Given the description of an element on the screen output the (x, y) to click on. 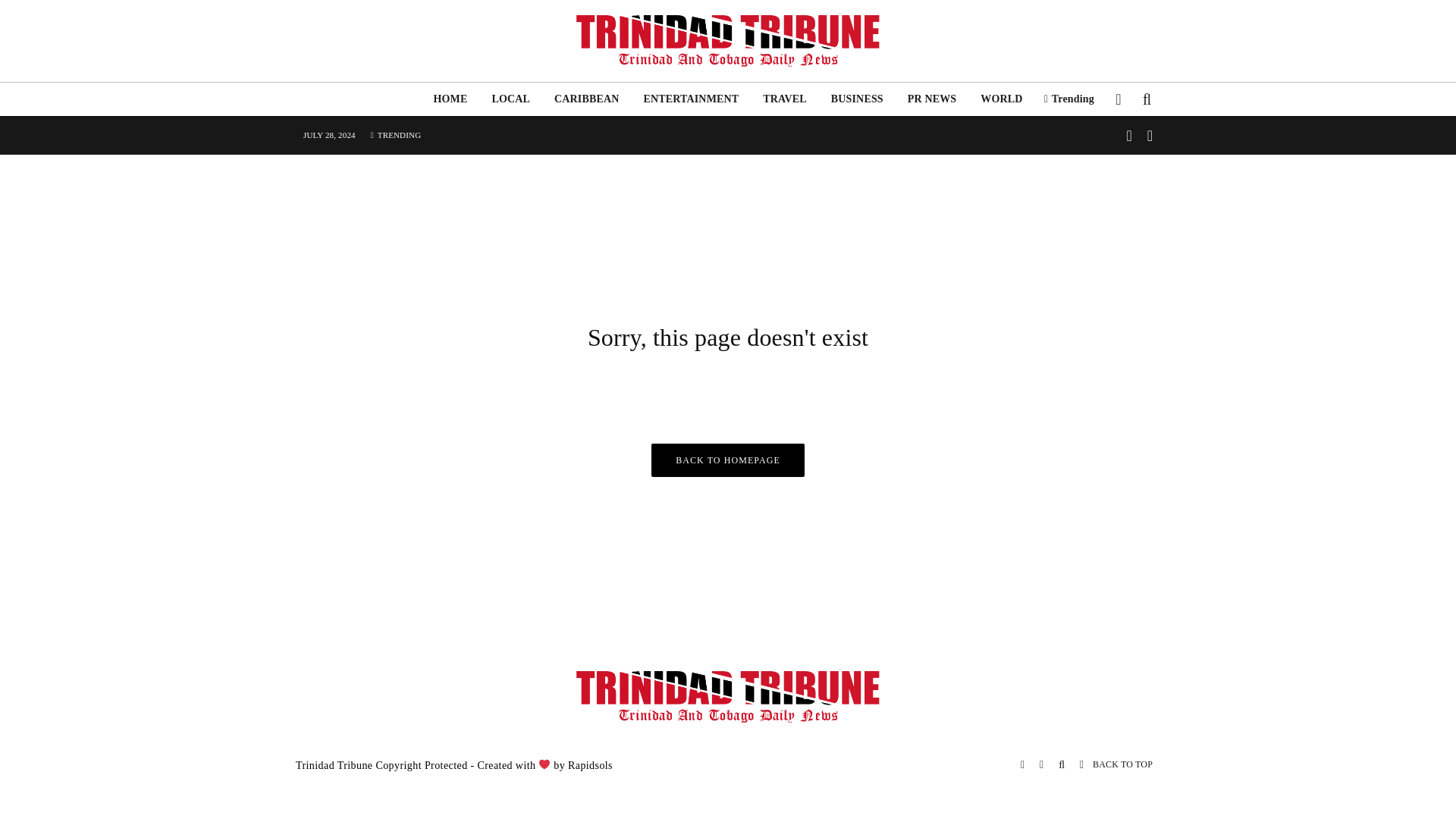
ENTERTAINMENT (690, 98)
HOME (449, 98)
TRAVEL (784, 98)
CARIBBEAN (585, 98)
LOCAL (510, 98)
